Given the description of an element on the screen output the (x, y) to click on. 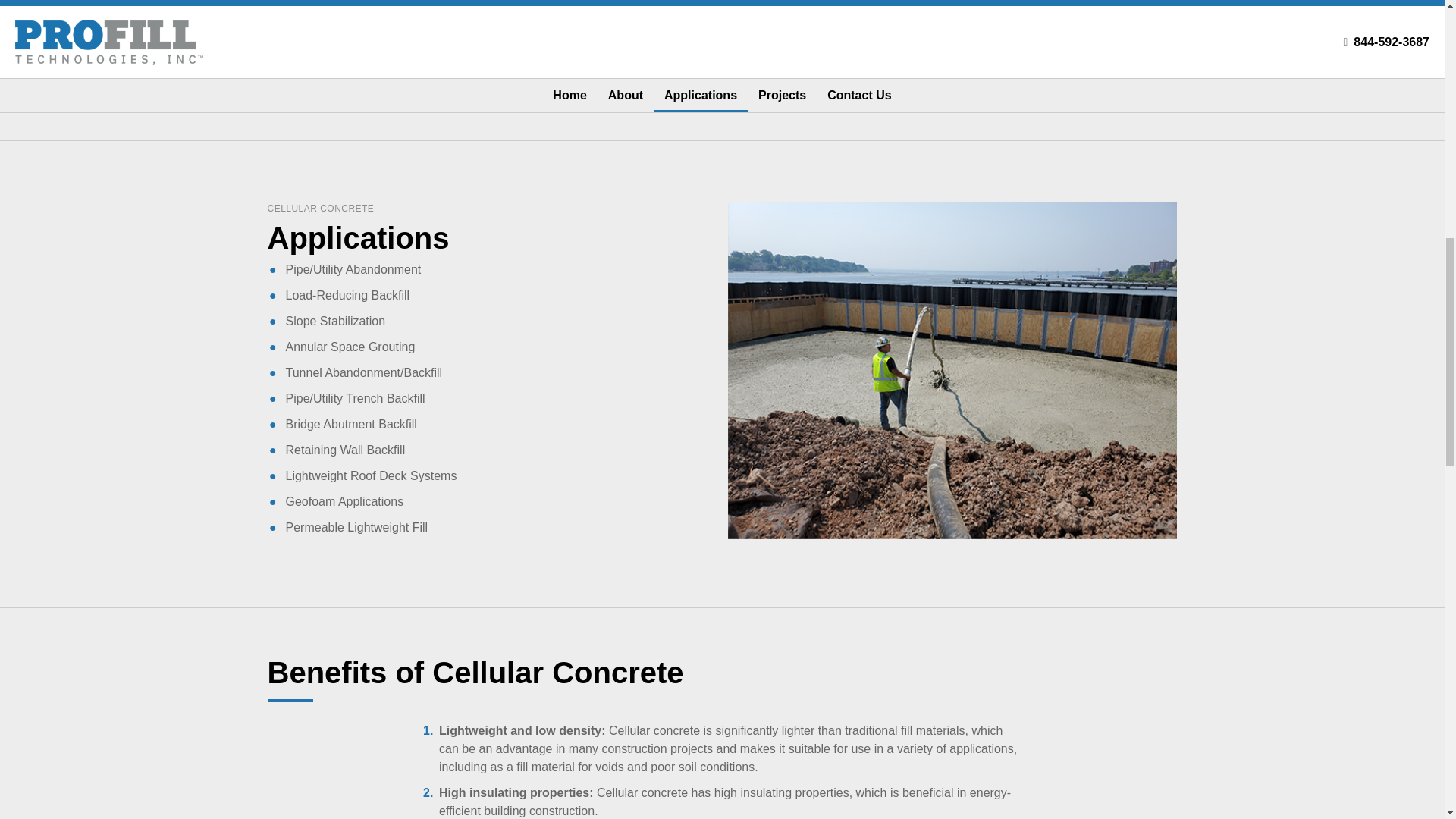
Get A Quote (1079, 0)
